Given the description of an element on the screen output the (x, y) to click on. 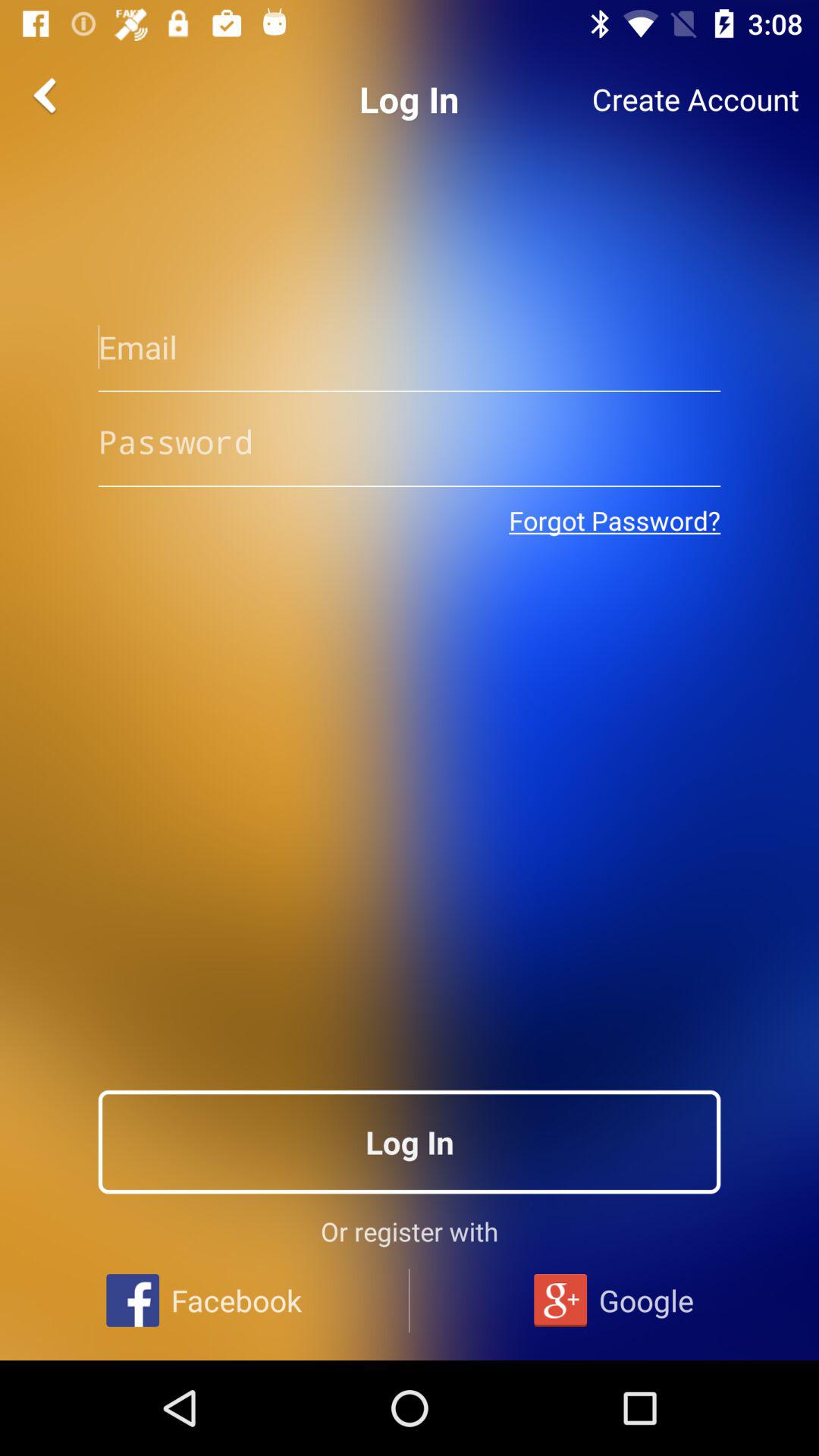
launch the app to the left of log in app (47, 95)
